Given the description of an element on the screen output the (x, y) to click on. 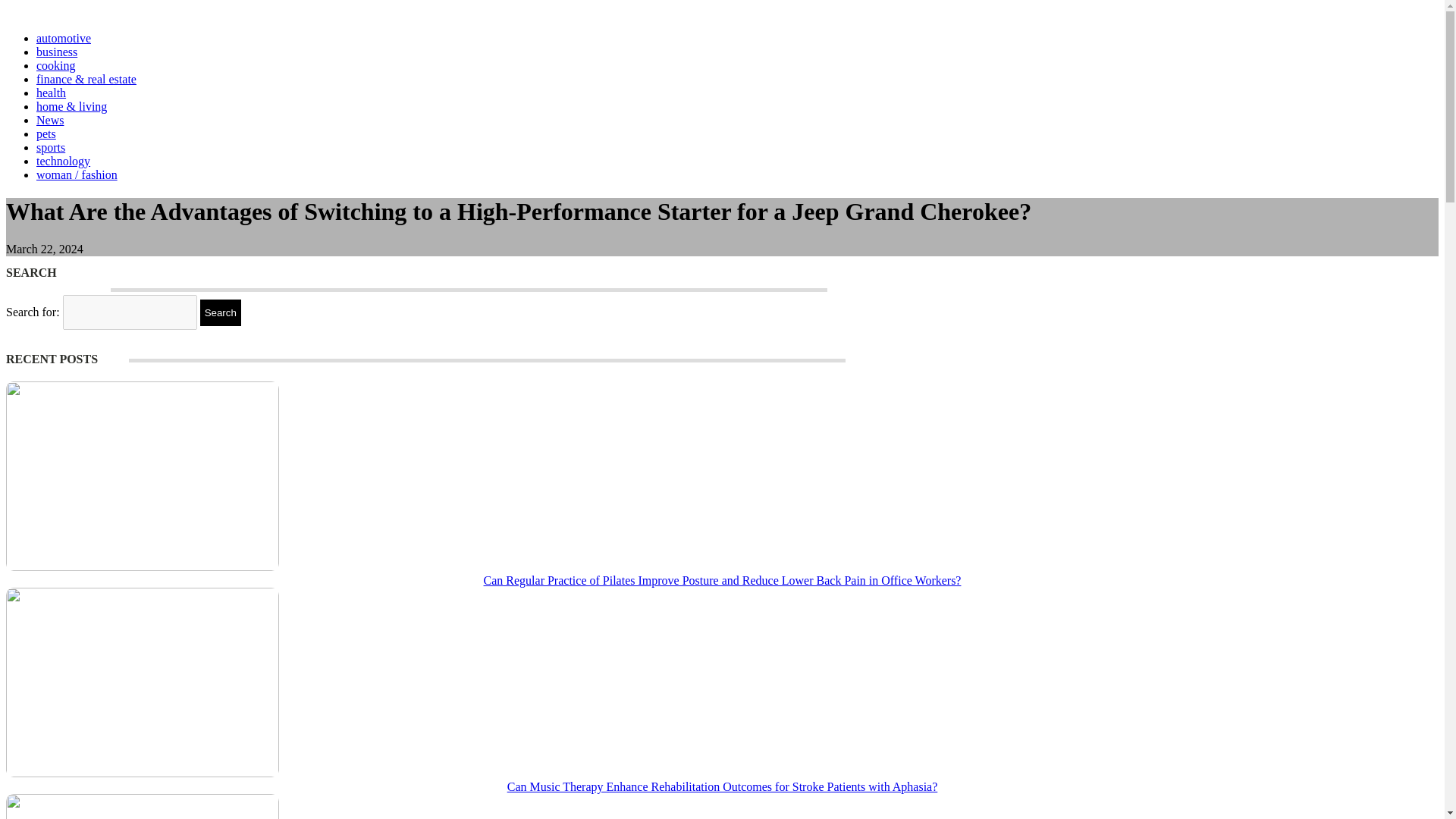
sports (50, 146)
Search (220, 312)
cooking (55, 65)
health (50, 92)
Search (220, 312)
automotive (63, 38)
News (50, 119)
business (56, 51)
pets (46, 133)
technology (63, 160)
